Given the description of an element on the screen output the (x, y) to click on. 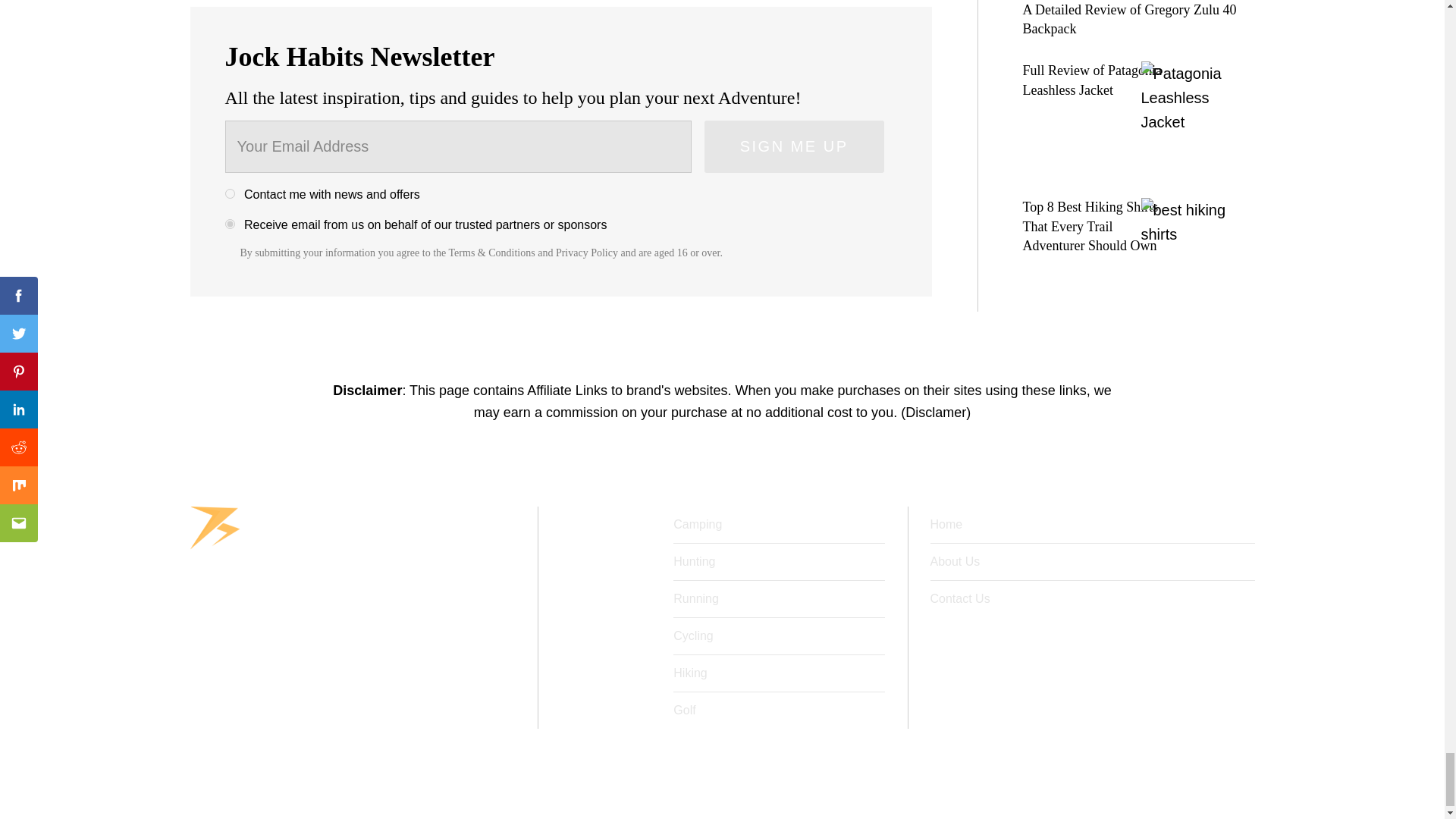
SIGN ME UP (793, 146)
Contact me with news and offers (229, 194)
